Given the description of an element on the screen output the (x, y) to click on. 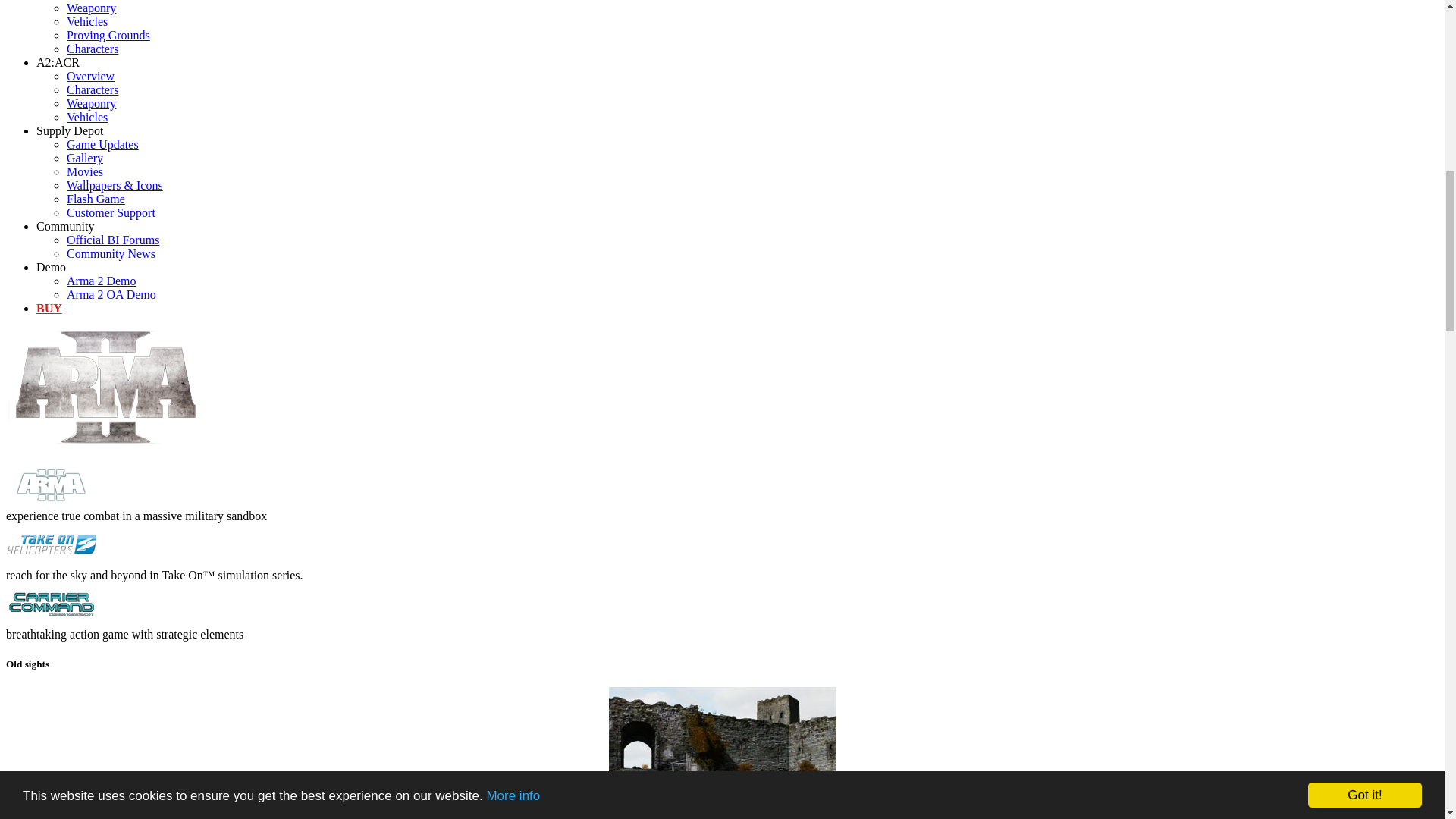
Arma 2 Official Website (105, 437)
